Given the description of an element on the screen output the (x, y) to click on. 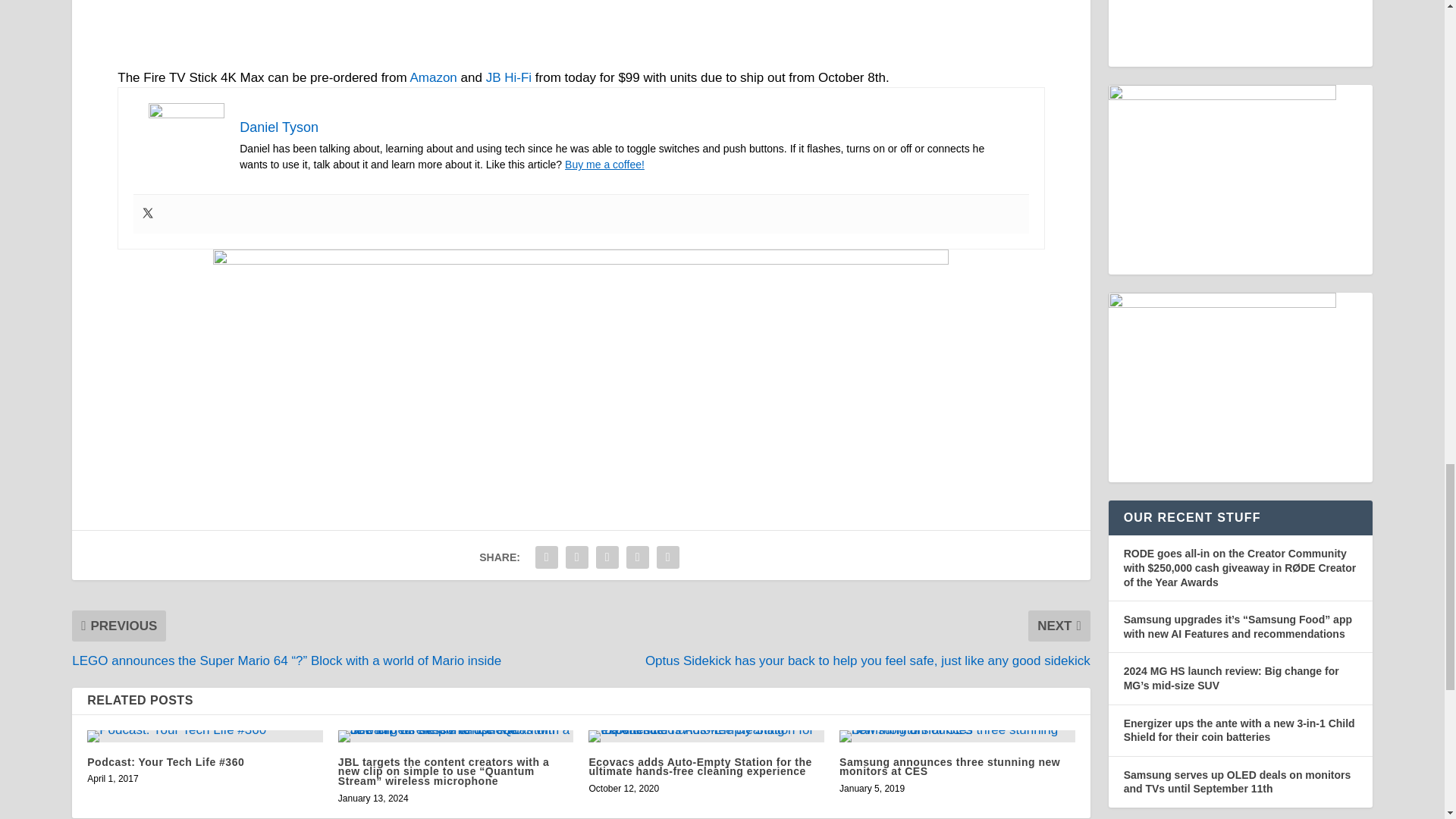
JB Hi-Fi (508, 77)
Daniel Tyson (279, 127)
Amazon (433, 77)
Samsung announces three stunning new monitors at CES (957, 736)
